Given the description of an element on the screen output the (x, y) to click on. 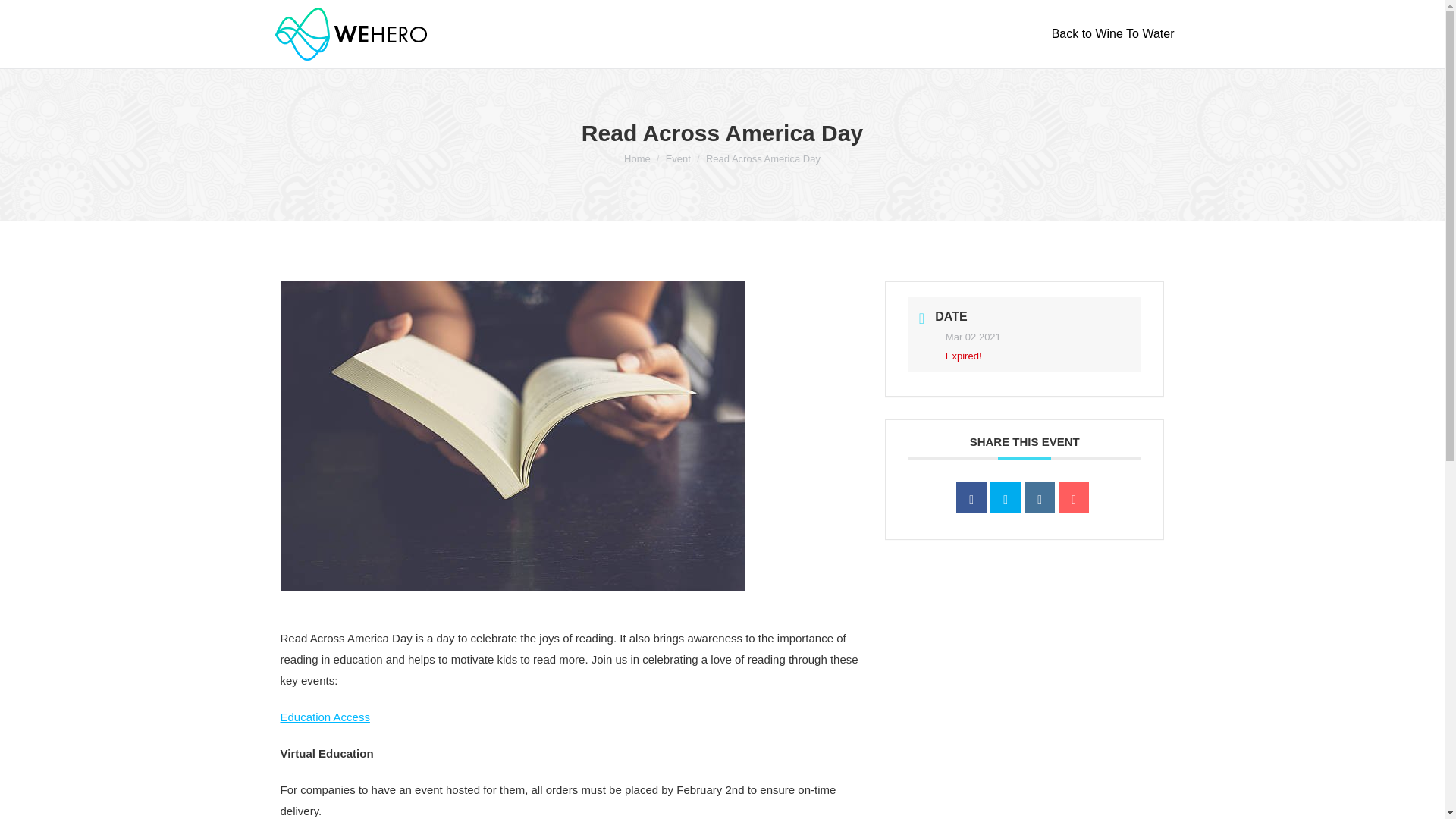
Tweet (1005, 497)
Home (637, 158)
Education Access (325, 716)
Share on Facebook (971, 497)
Back to Wine To Water (1112, 33)
Linkedin (1039, 497)
Event (677, 158)
Email (1073, 497)
